Given the description of an element on the screen output the (x, y) to click on. 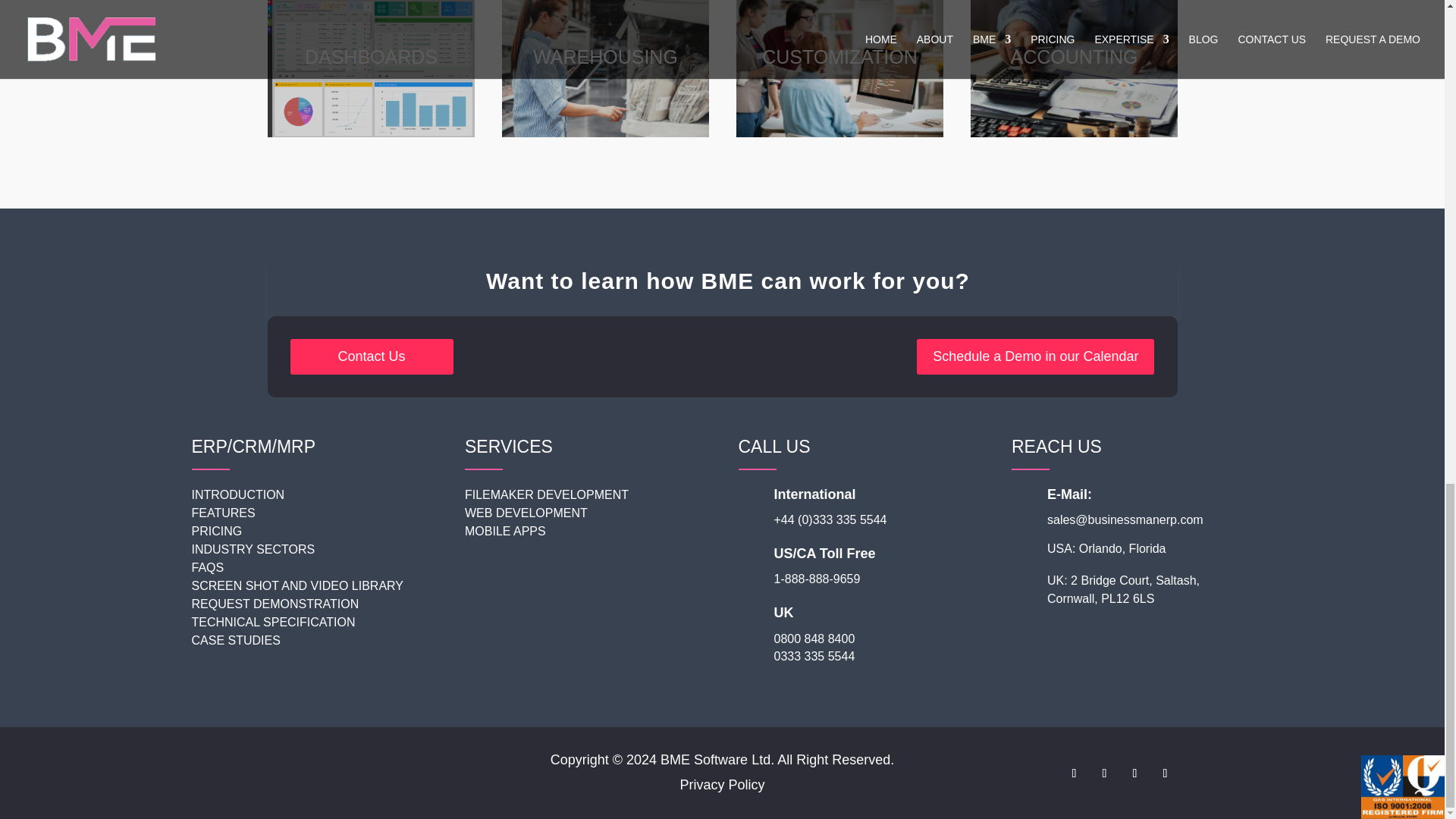
FILEMAKER DEVELOPMENT (546, 494)
INDUSTRY SECTORS (252, 549)
TECHNICAL SPECIFICATION (272, 621)
Follow on Youtube (1164, 773)
FAQS (207, 567)
View More (377, 80)
Follow on LinkedIn (1134, 773)
View More (611, 80)
Contact Us (370, 356)
Schedule a Demo in our Calendar (1035, 356)
